Given the description of an element on the screen output the (x, y) to click on. 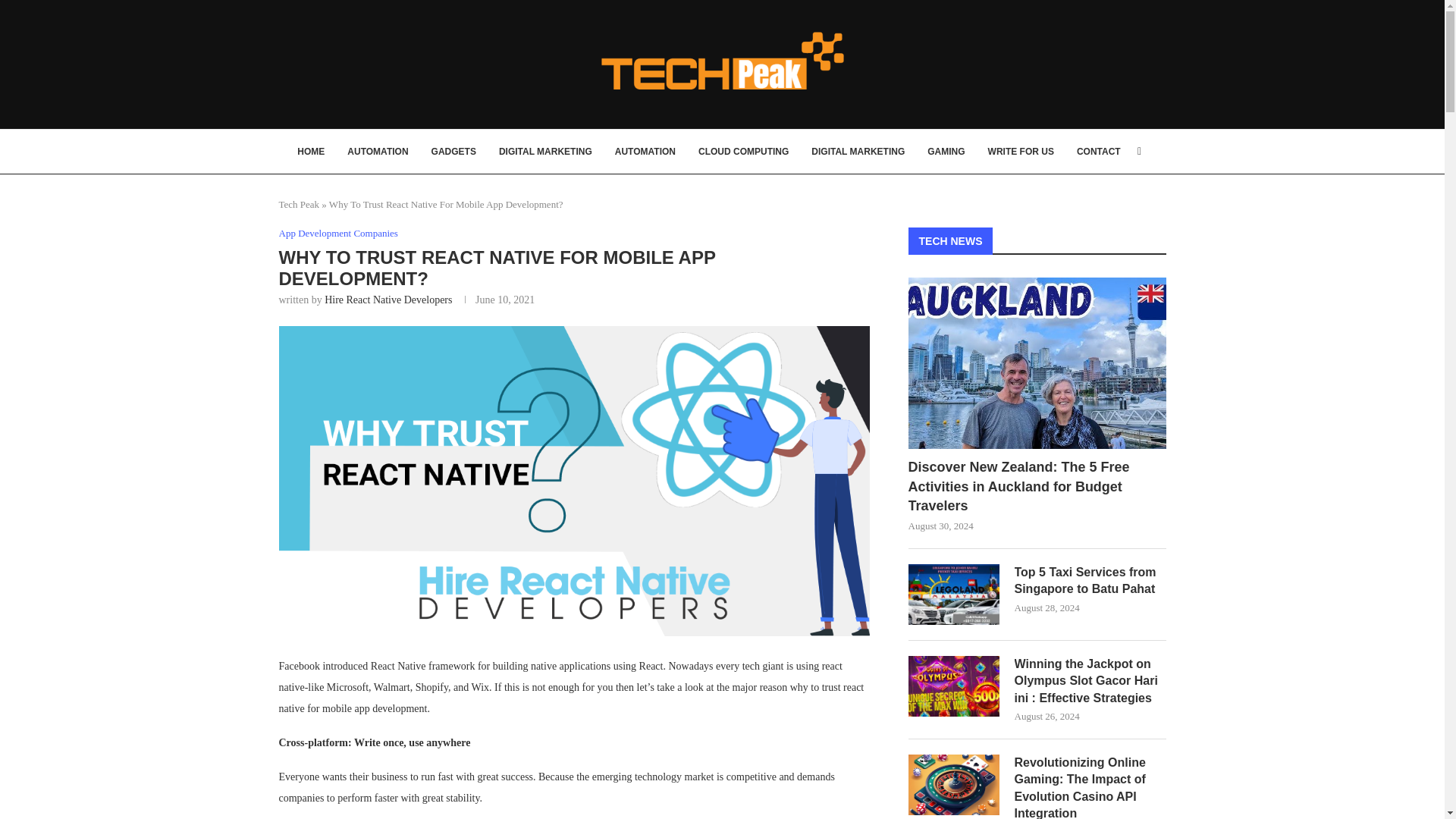
AUTOMATION (644, 151)
App Development Companies (338, 233)
Tech Peak (299, 204)
CONTACT (1099, 151)
DIGITAL MARKETING (545, 151)
Hire React Native Developers (387, 299)
WRITE FOR US (1021, 151)
GADGETS (453, 151)
AUTOMATION (377, 151)
CLOUD COMPUTING (743, 151)
